Given the description of an element on the screen output the (x, y) to click on. 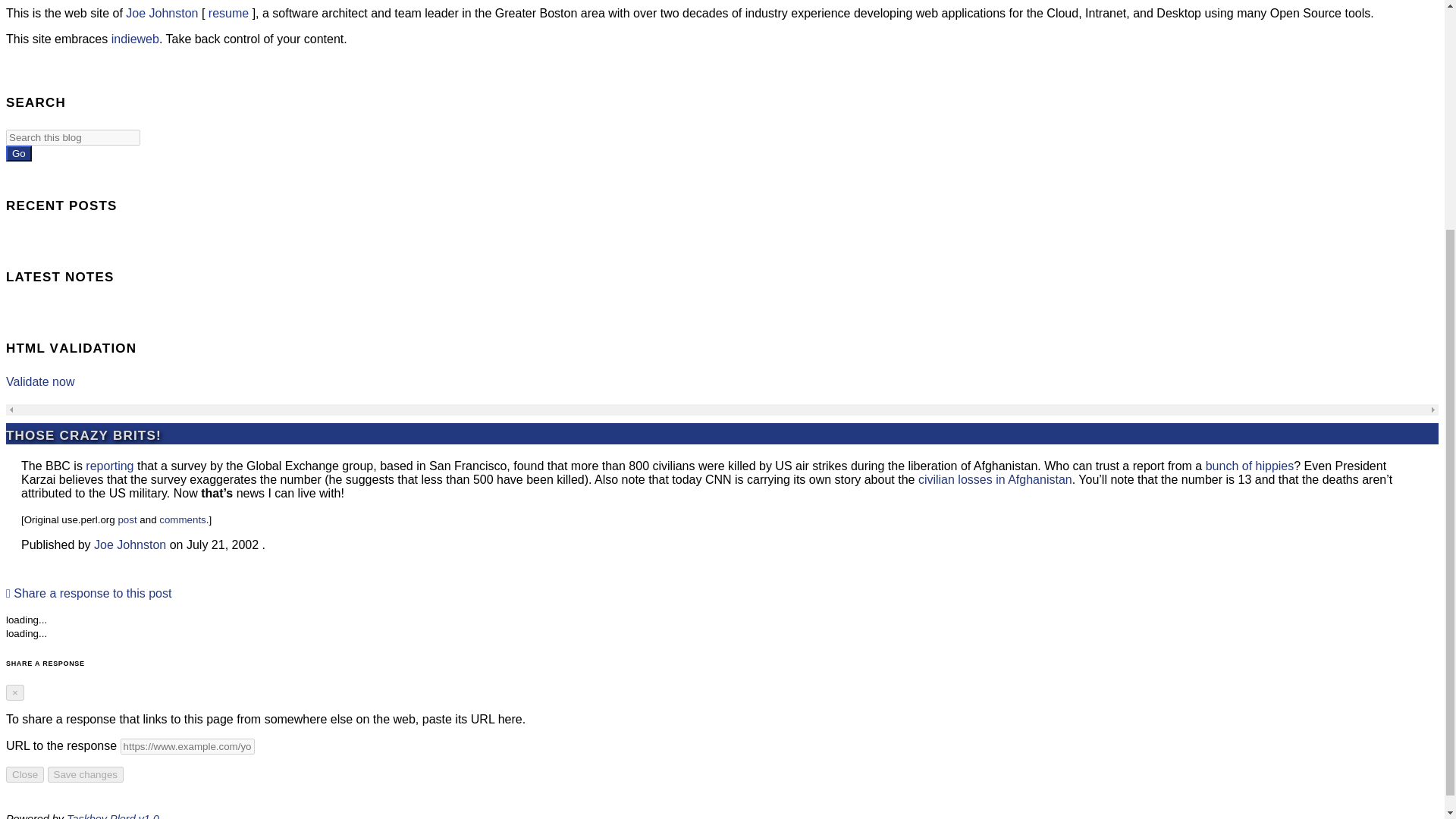
comments (181, 519)
bunch of hippies (1249, 465)
post (126, 519)
resume (228, 12)
Joe Johnston (161, 12)
Validate now (39, 381)
reporting (109, 465)
Go (18, 153)
Joe Johnston (129, 544)
Go (18, 153)
indieweb (135, 38)
Close (24, 774)
Save changes (85, 774)
civilian losses in Afghanistan (994, 479)
Those Crazy Brits! (83, 433)
